Given the description of an element on the screen output the (x, y) to click on. 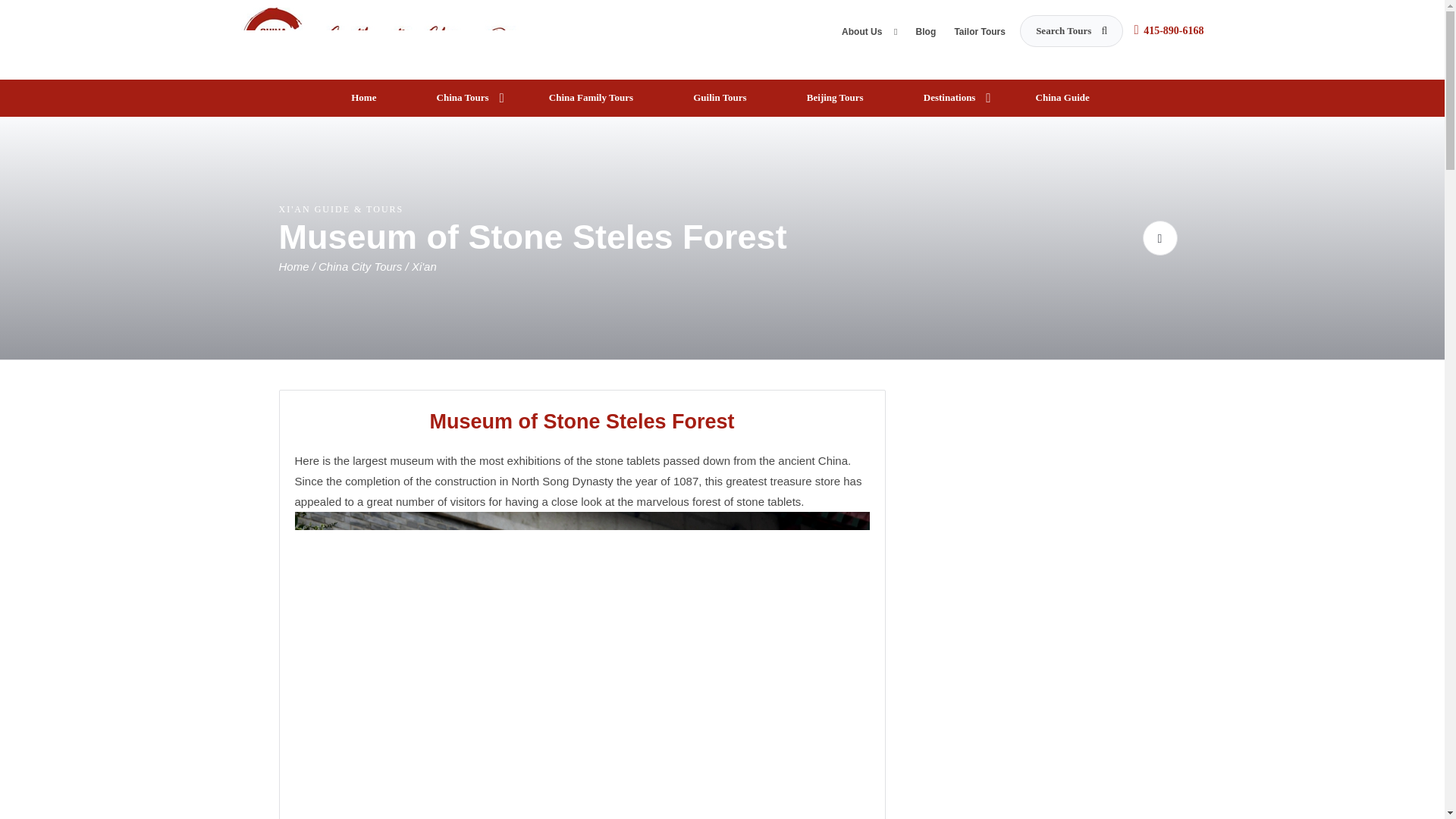
Home (365, 98)
415-890-6168 (1173, 30)
Blog (925, 34)
China City Tours (362, 266)
China Tours (465, 98)
China Tours (410, 38)
Tailor Tours (979, 34)
About Us (868, 34)
Search Tours (1071, 30)
